Given the description of an element on the screen output the (x, y) to click on. 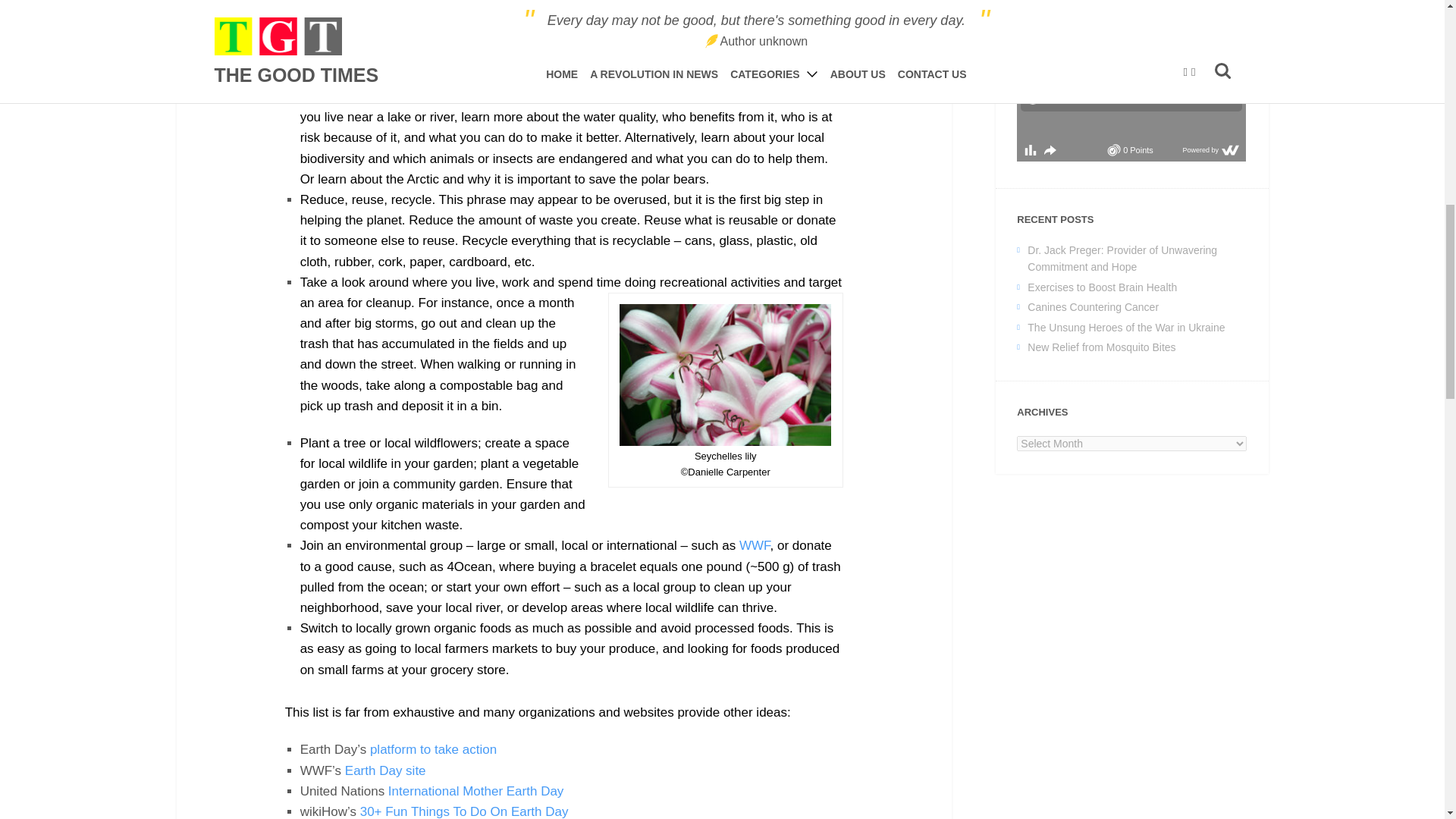
WWF (754, 545)
067a41b0-bac5-4590-a399-025325c8ae9c (1131, 80)
Earth Day site (385, 770)
platform to take action (432, 749)
International Mother Earth Day (476, 790)
4Ocean (469, 566)
